Given the description of an element on the screen output the (x, y) to click on. 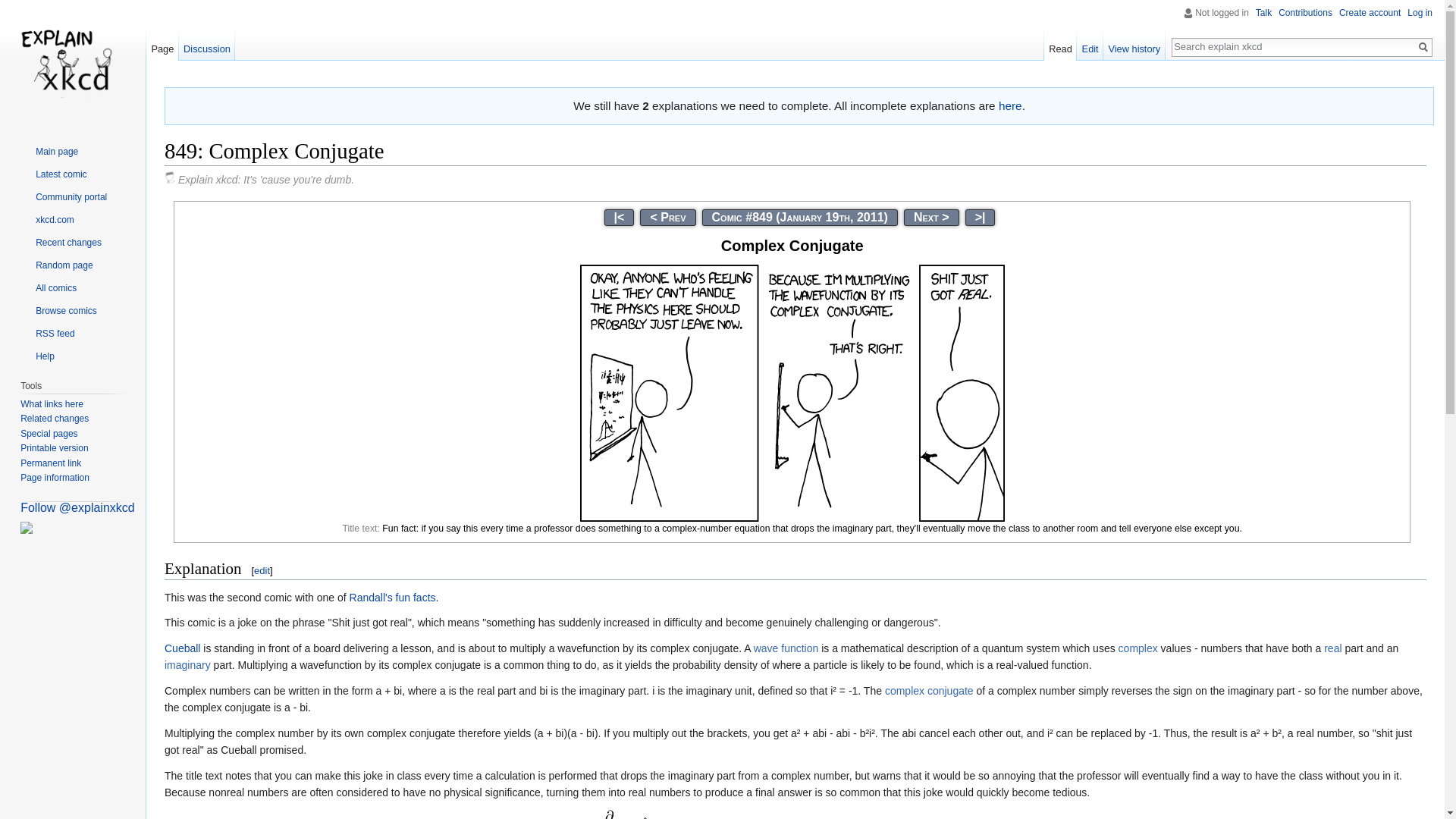
real (1331, 648)
here (1010, 105)
wikipedia:Complex conjugate (929, 690)
850 (931, 216)
848 (667, 216)
Go (1423, 46)
complex (1137, 648)
Edit section: Explanation (261, 570)
wave function (786, 648)
Cueball (182, 648)
imaginary (187, 664)
2967 (980, 216)
Go (1423, 46)
Randall (371, 597)
